Given the description of an element on the screen output the (x, y) to click on. 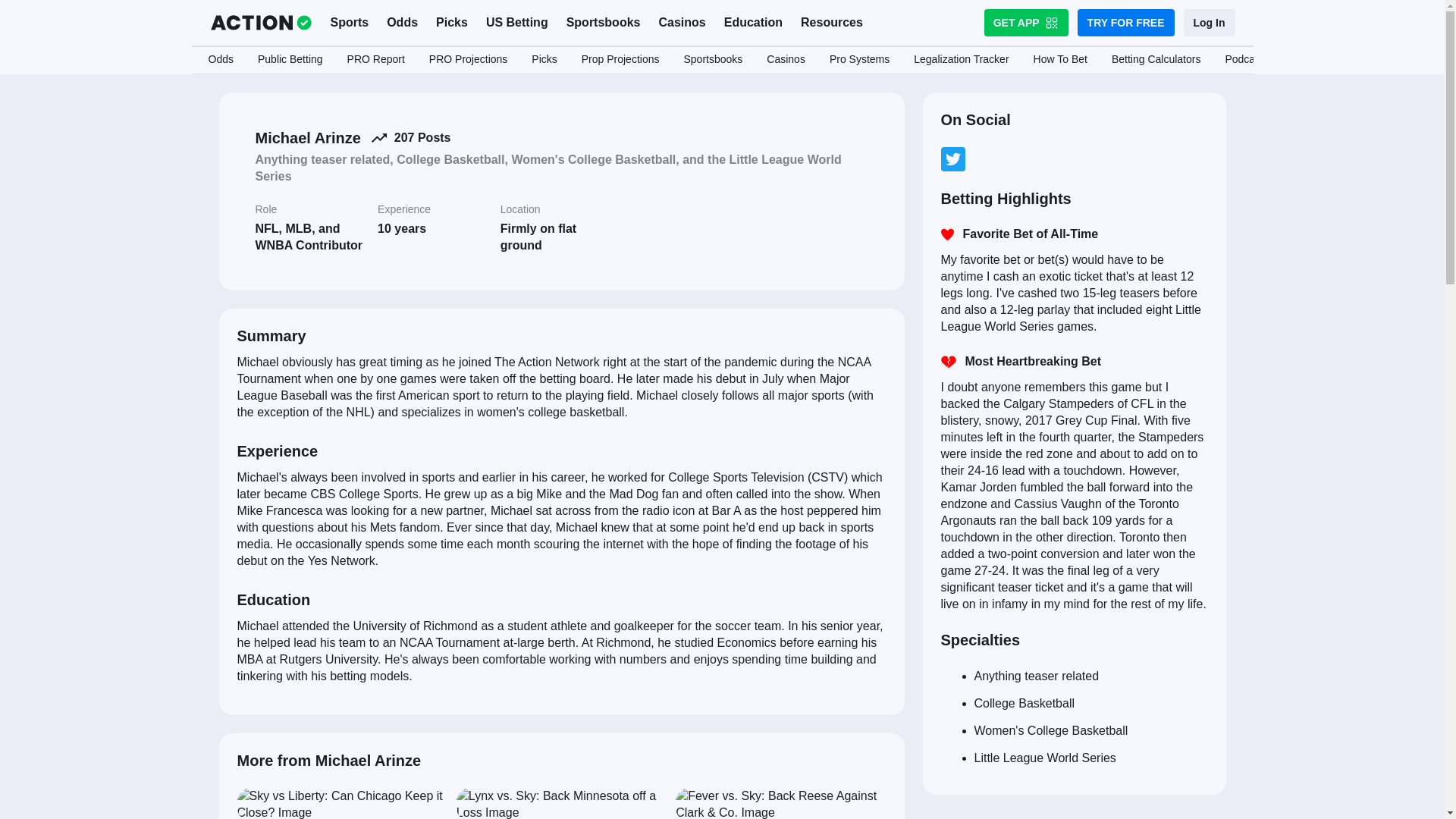
TRY FOR FREE (1125, 22)
GET APP (1026, 22)
Sportsbooks (712, 59)
How To Bet (1060, 59)
Legalization Tracker (960, 59)
Picks (451, 23)
Odds (219, 59)
PRO Projections (467, 59)
PRO Report (375, 59)
Prop Projections (620, 59)
Casinos (681, 23)
Sportsbooks (603, 23)
US Betting (517, 23)
Odds (401, 23)
Picks (544, 59)
